Given the description of an element on the screen output the (x, y) to click on. 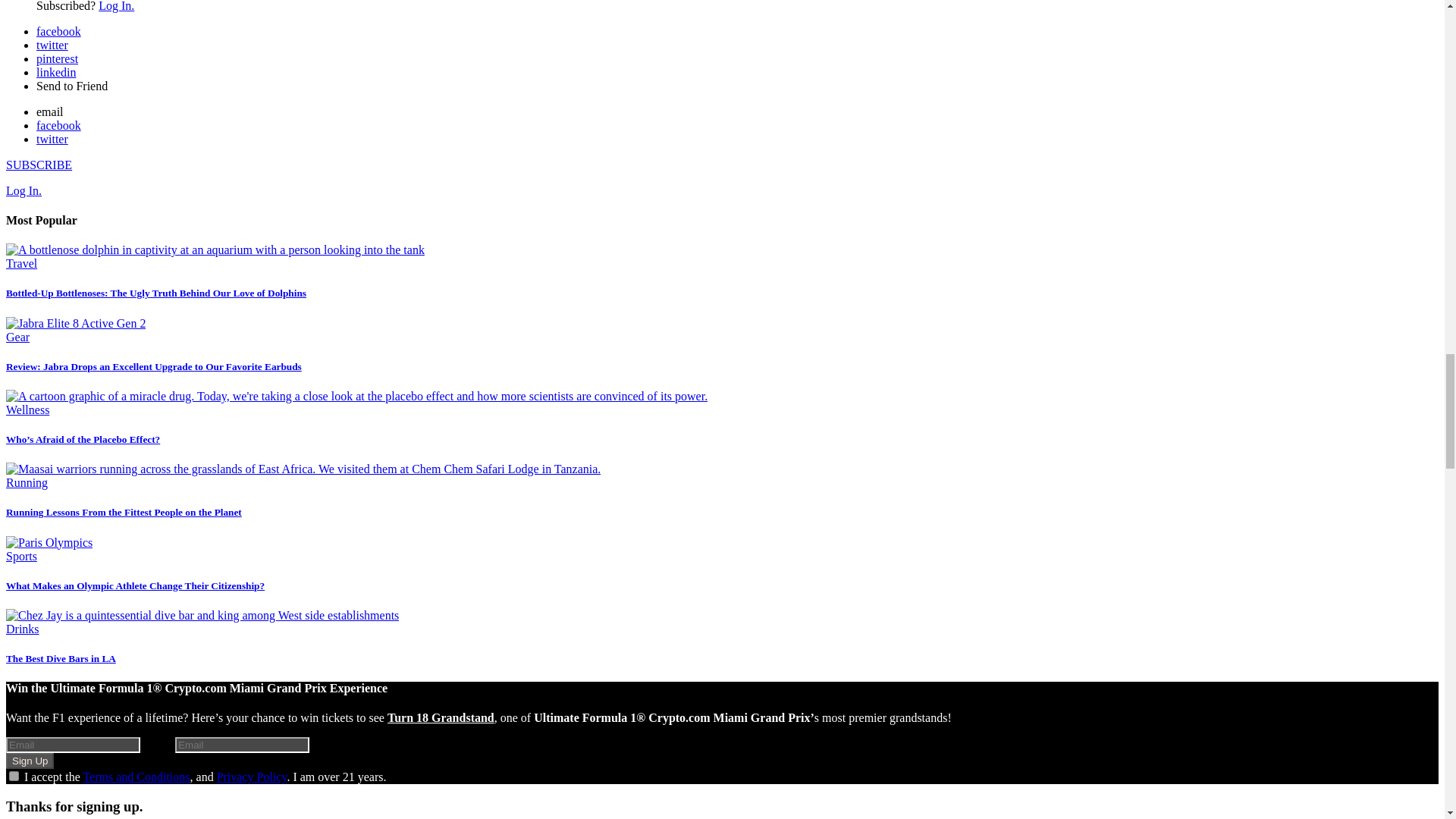
on (13, 776)
